Given the description of an element on the screen output the (x, y) to click on. 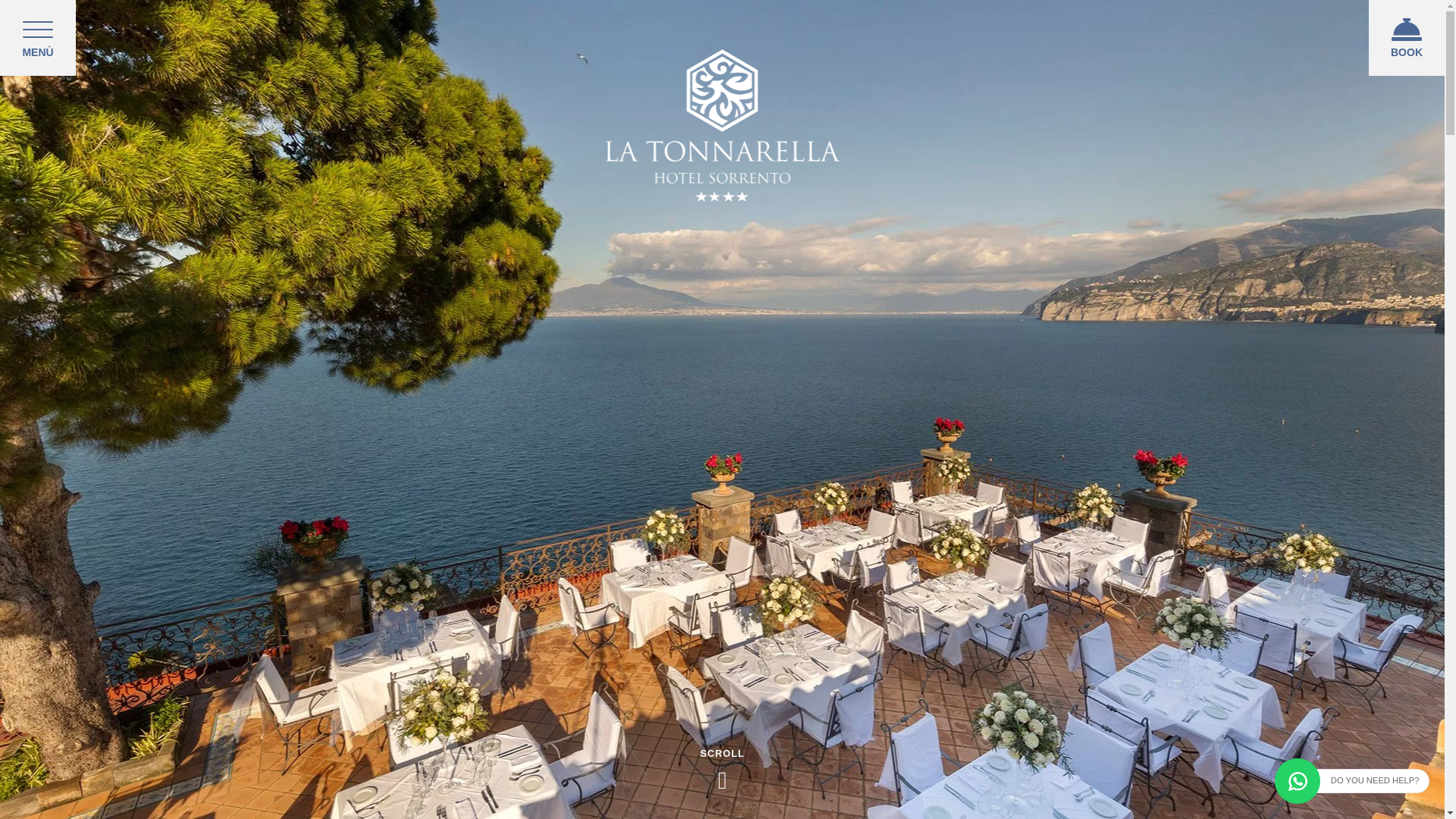
SCROLL (722, 739)
La Tonnarella (721, 125)
